Given the description of an element on the screen output the (x, y) to click on. 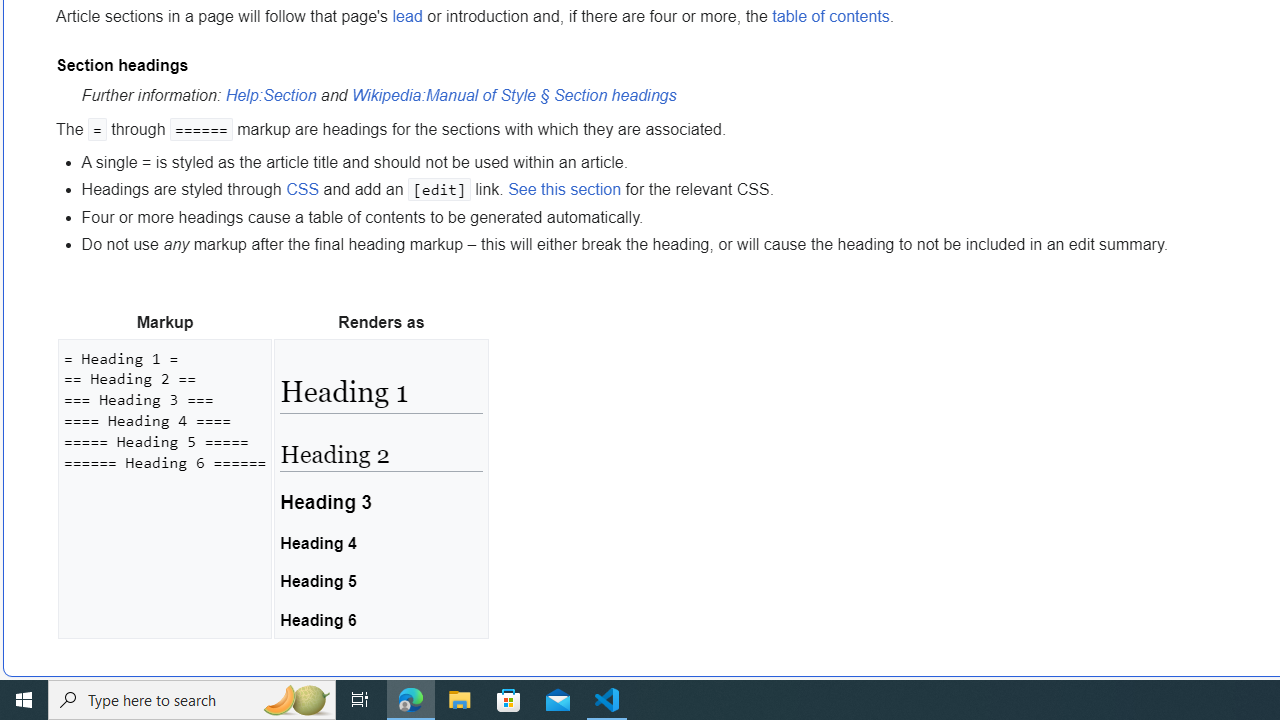
table of contents (830, 16)
Heading 1 Heading 2 Heading 3 Heading 4 Heading 5 Heading 6 (380, 488)
Markup (164, 322)
See this section (565, 189)
Renders as (380, 322)
Help:Section (271, 96)
lead (406, 16)
CSS (302, 189)
